Given the description of an element on the screen output the (x, y) to click on. 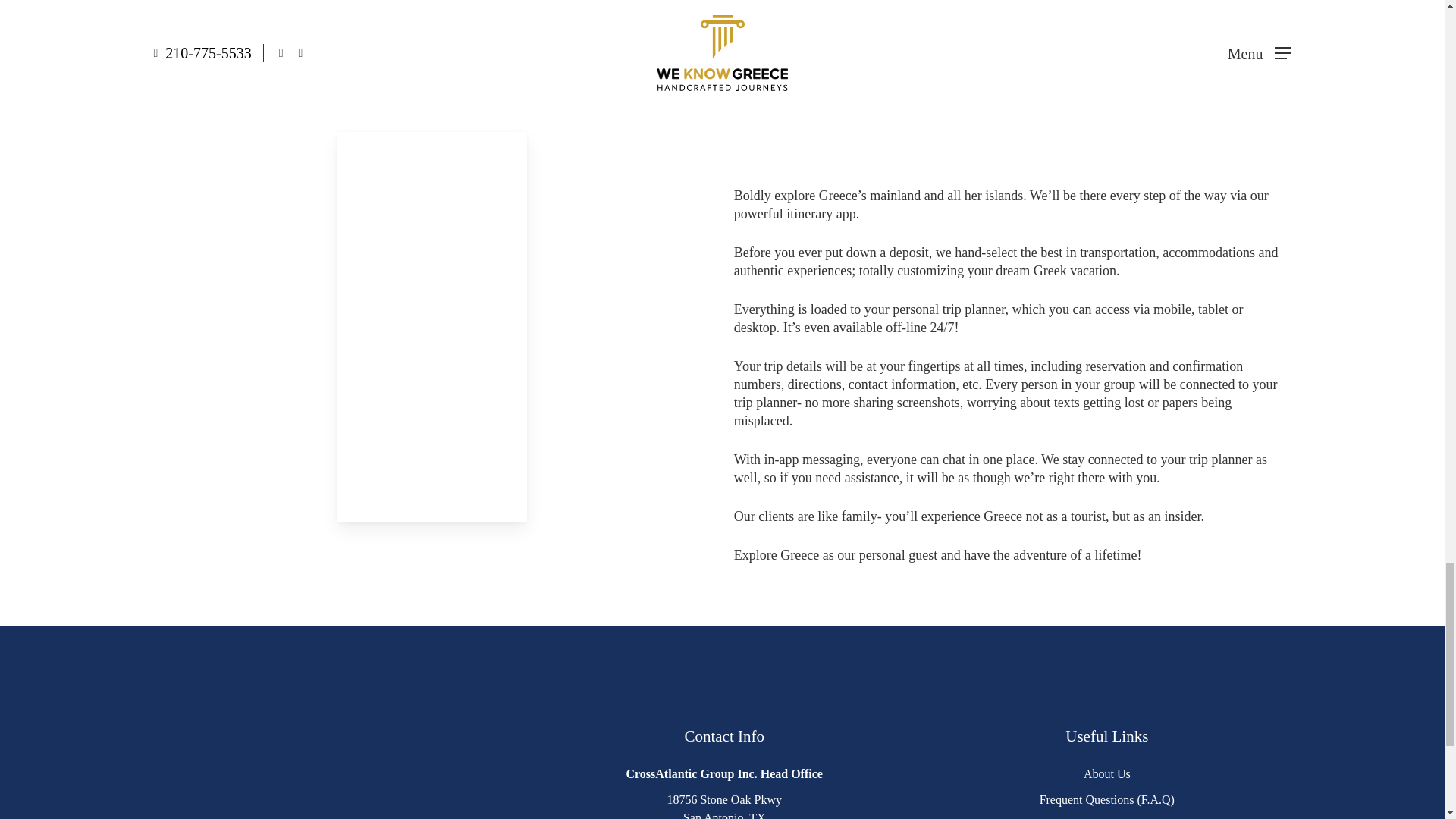
About Us (1107, 773)
